Given the description of an element on the screen output the (x, y) to click on. 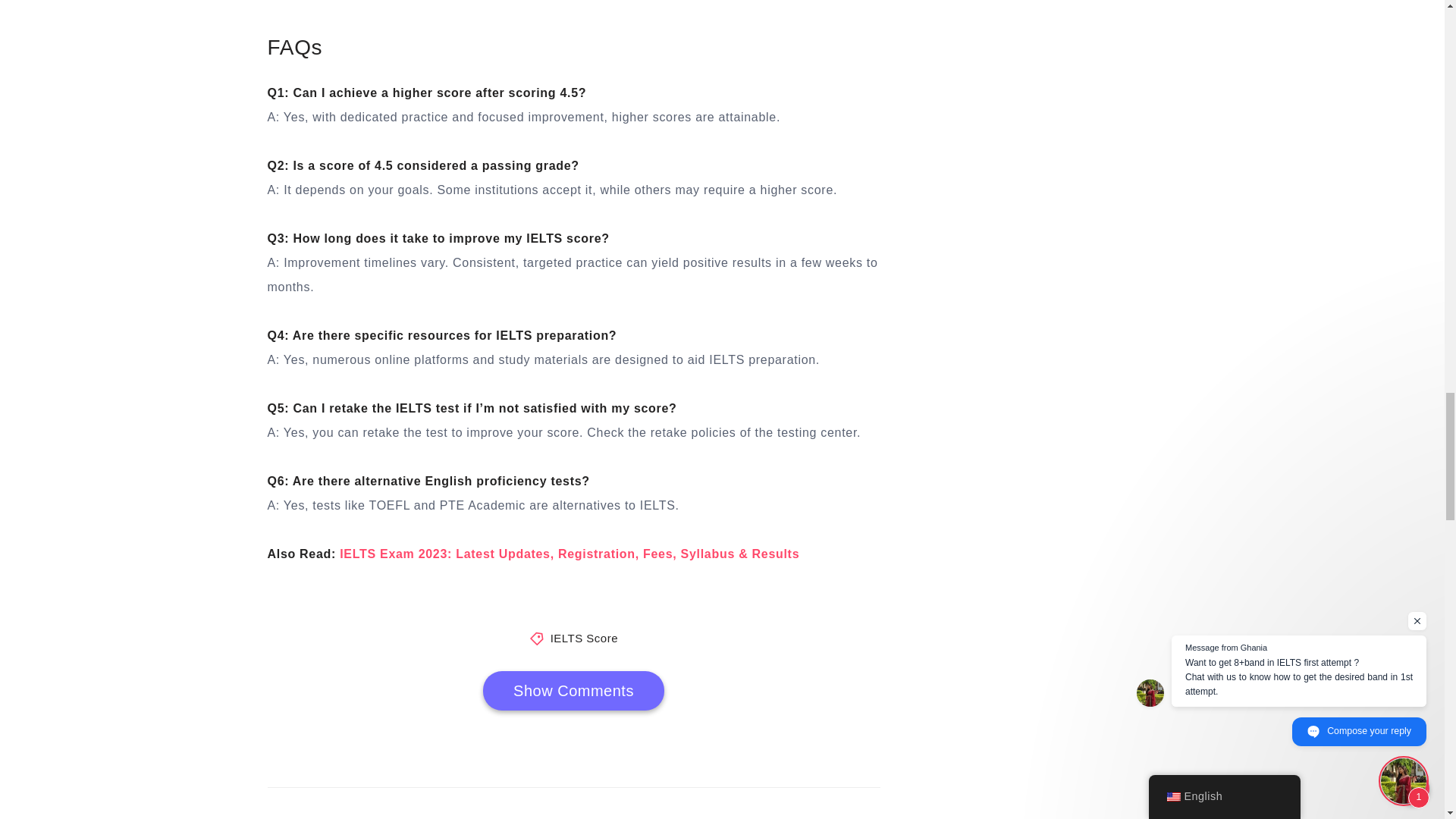
IELTS Score (583, 637)
Show Comments (573, 690)
